Given the description of an element on the screen output the (x, y) to click on. 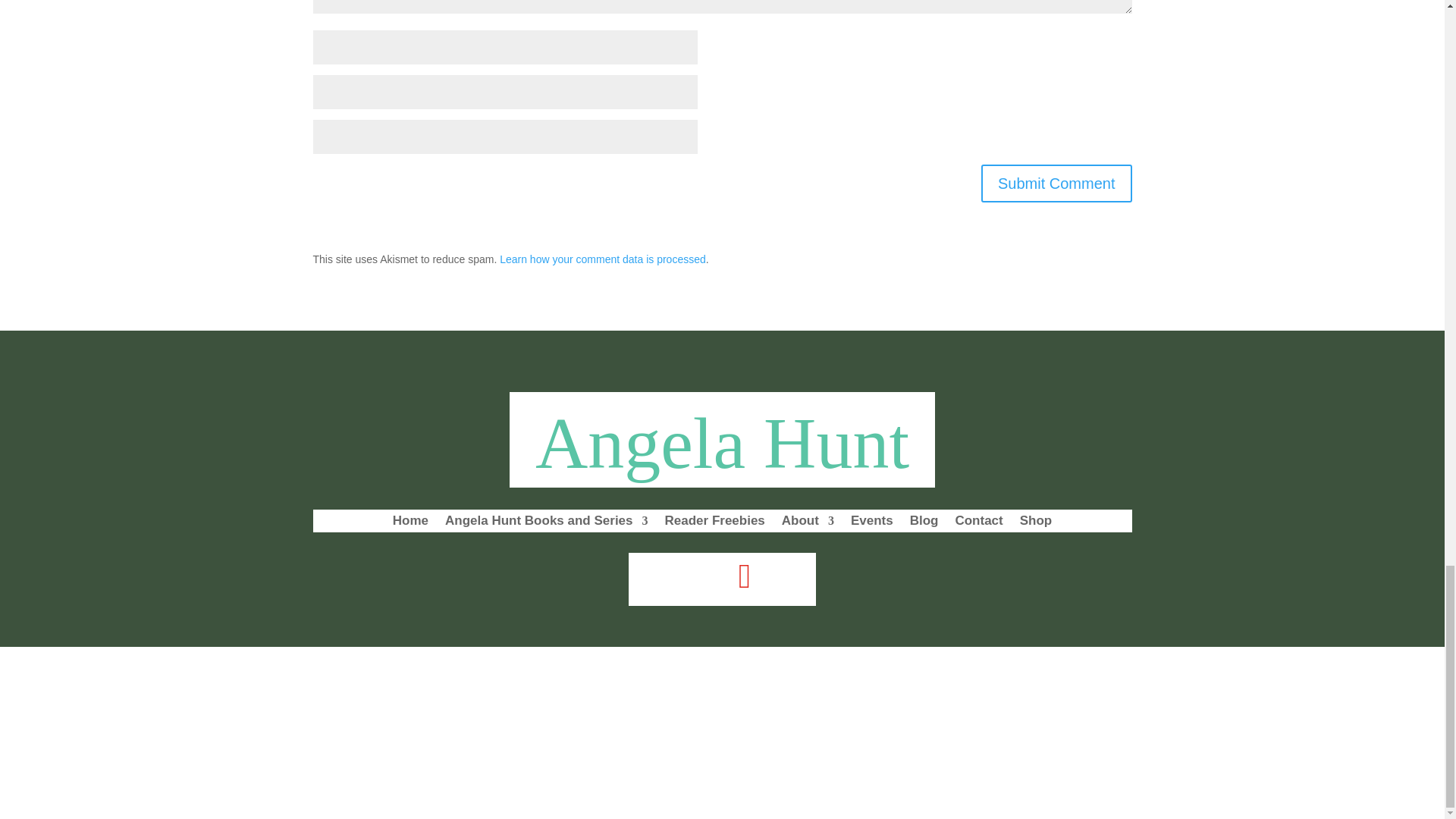
goodreads 48x48 (789, 577)
facebook 48x48 (699, 577)
BB 48x48 (654, 577)
